Given the description of an element on the screen output the (x, y) to click on. 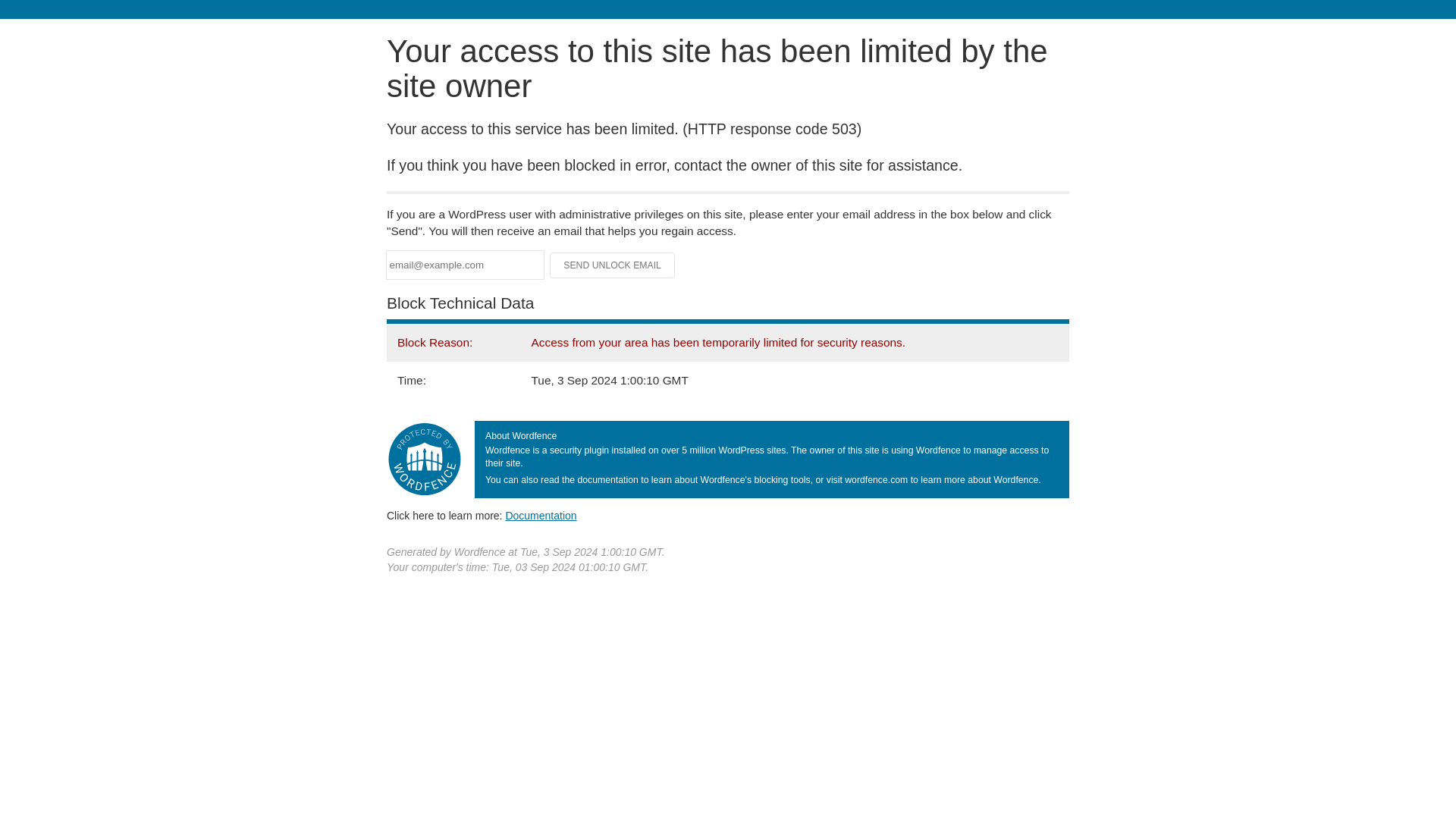
Send Unlock Email (612, 265)
Documentation (540, 515)
Send Unlock Email (612, 265)
